Given the description of an element on the screen output the (x, y) to click on. 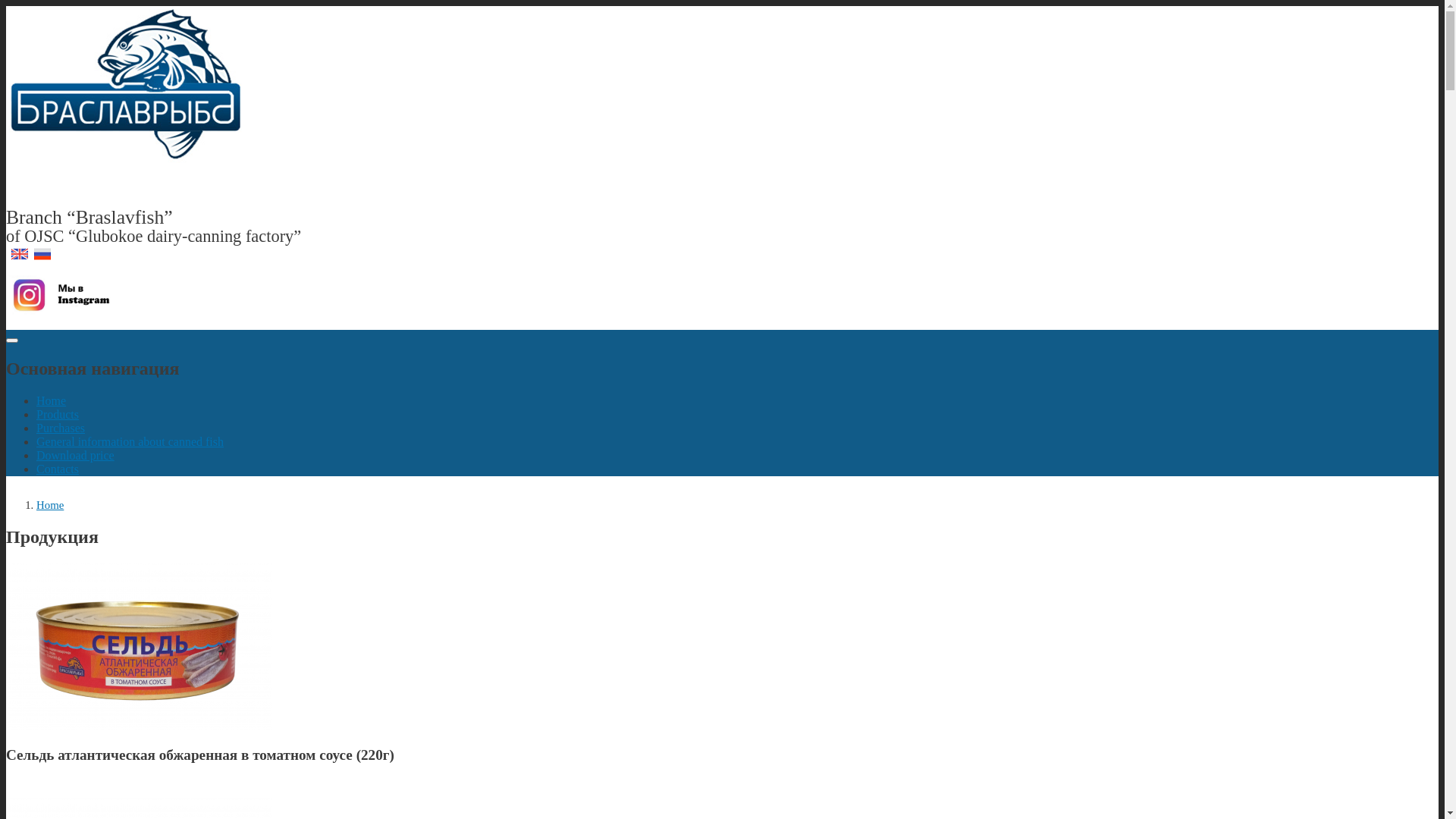
Contacts Element type: text (57, 468)
Products Element type: text (57, 413)
General information about canned fish Element type: text (129, 441)
Purchases Element type: text (60, 427)
Home Element type: text (50, 400)
Skip to main content Element type: text (722, 7)
Home Element type: hover (132, 159)
Russian Element type: text (42, 253)
Download price Element type: text (75, 454)
English Element type: text (19, 253)
Home Element type: text (49, 504)
